Given the description of an element on the screen output the (x, y) to click on. 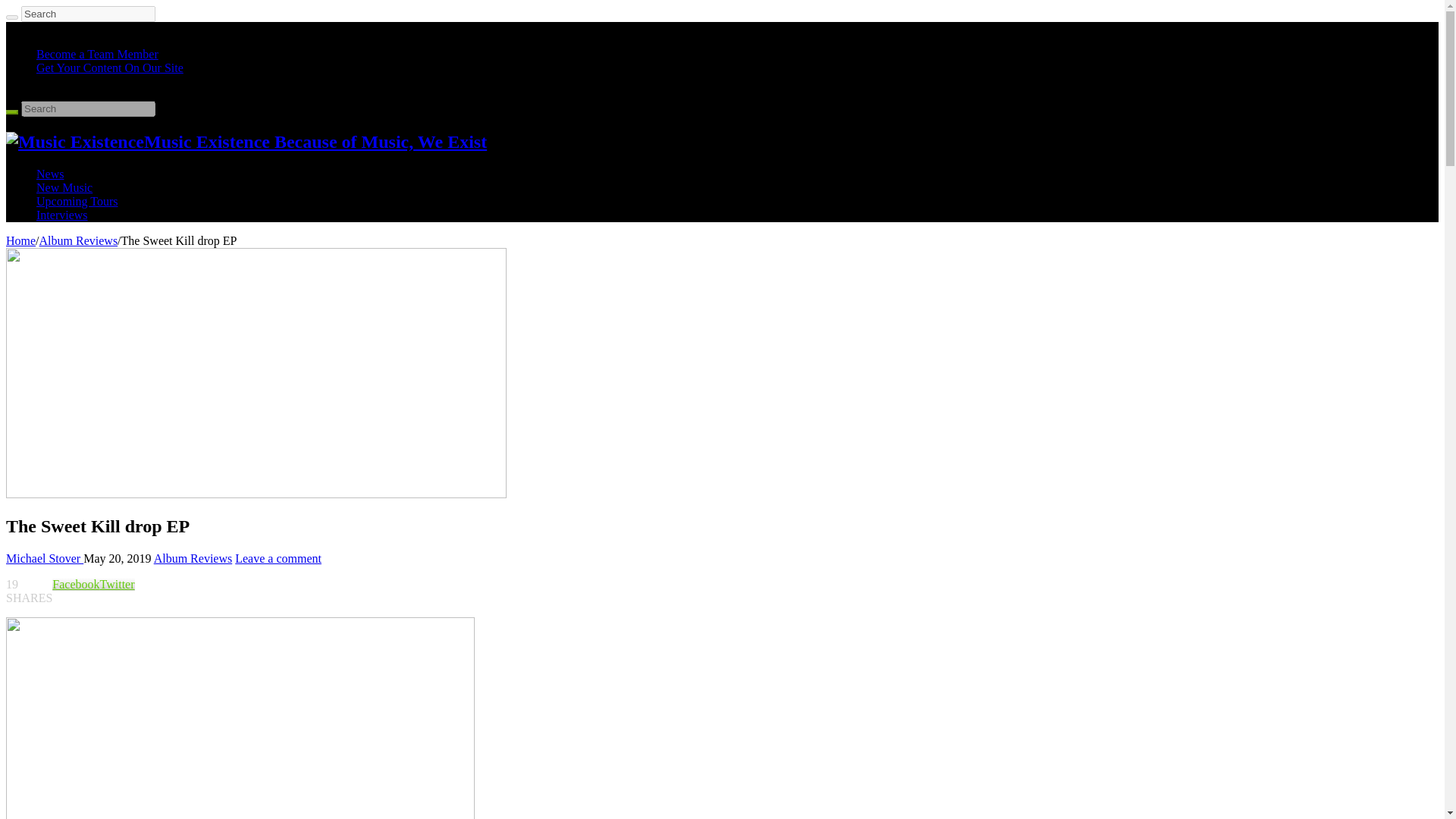
Search (88, 108)
Music Existence (245, 141)
Contact Us (63, 81)
Michael Stover (43, 558)
Album Reviews (193, 558)
Leave a comment (277, 558)
Become a Team Member (97, 53)
Search (88, 108)
Music Existence Because of Music, We Exist (245, 141)
Interviews (61, 214)
New Music (64, 187)
Search (11, 111)
Twitter (117, 584)
Get Your Content On Our Site (109, 67)
Search (11, 17)
